Given the description of an element on the screen output the (x, y) to click on. 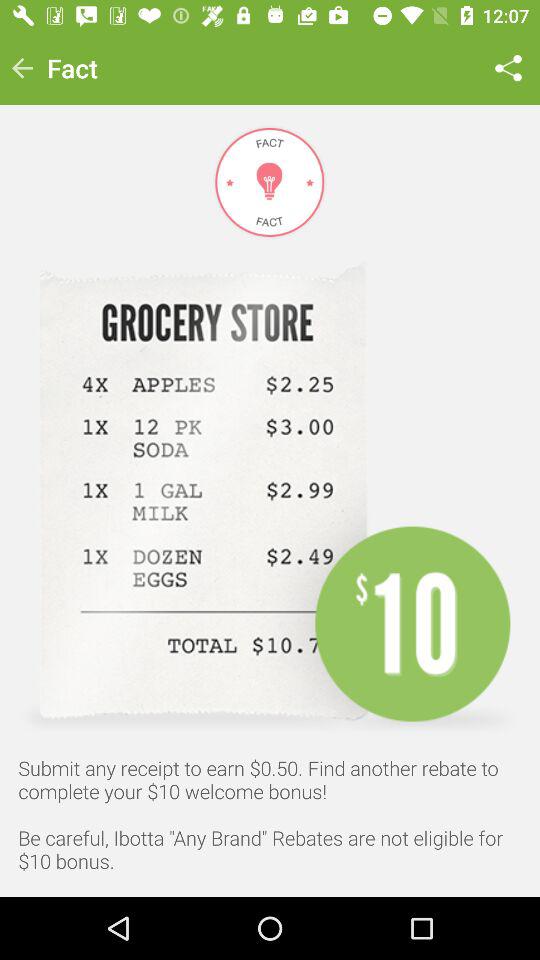
open fact item (72, 67)
